Given the description of an element on the screen output the (x, y) to click on. 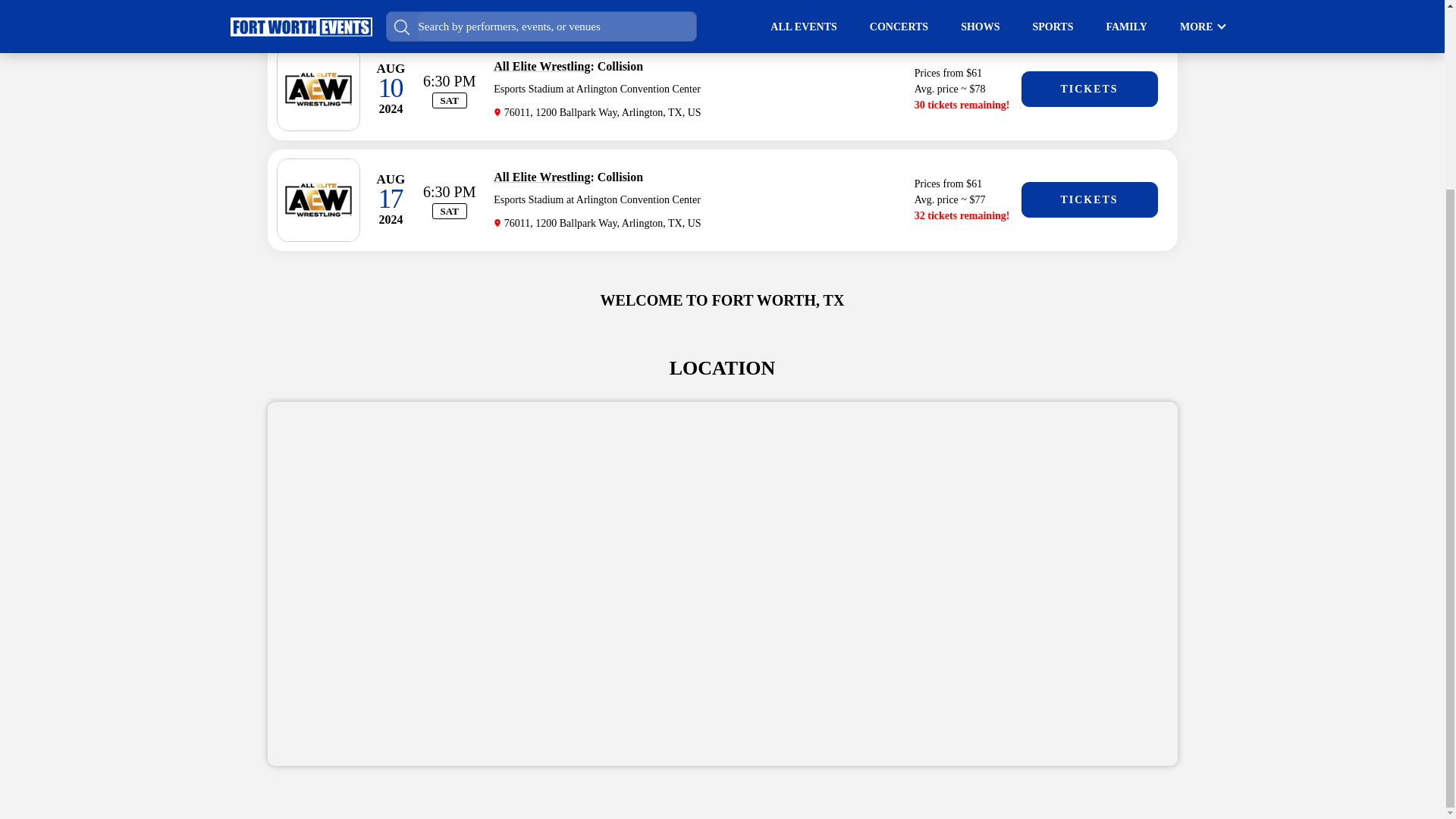
TICKETS (1088, 89)
All Elite Wrestling (541, 65)
All Elite Wrestling (541, 176)
TICKETS (1088, 199)
